Given the description of an element on the screen output the (x, y) to click on. 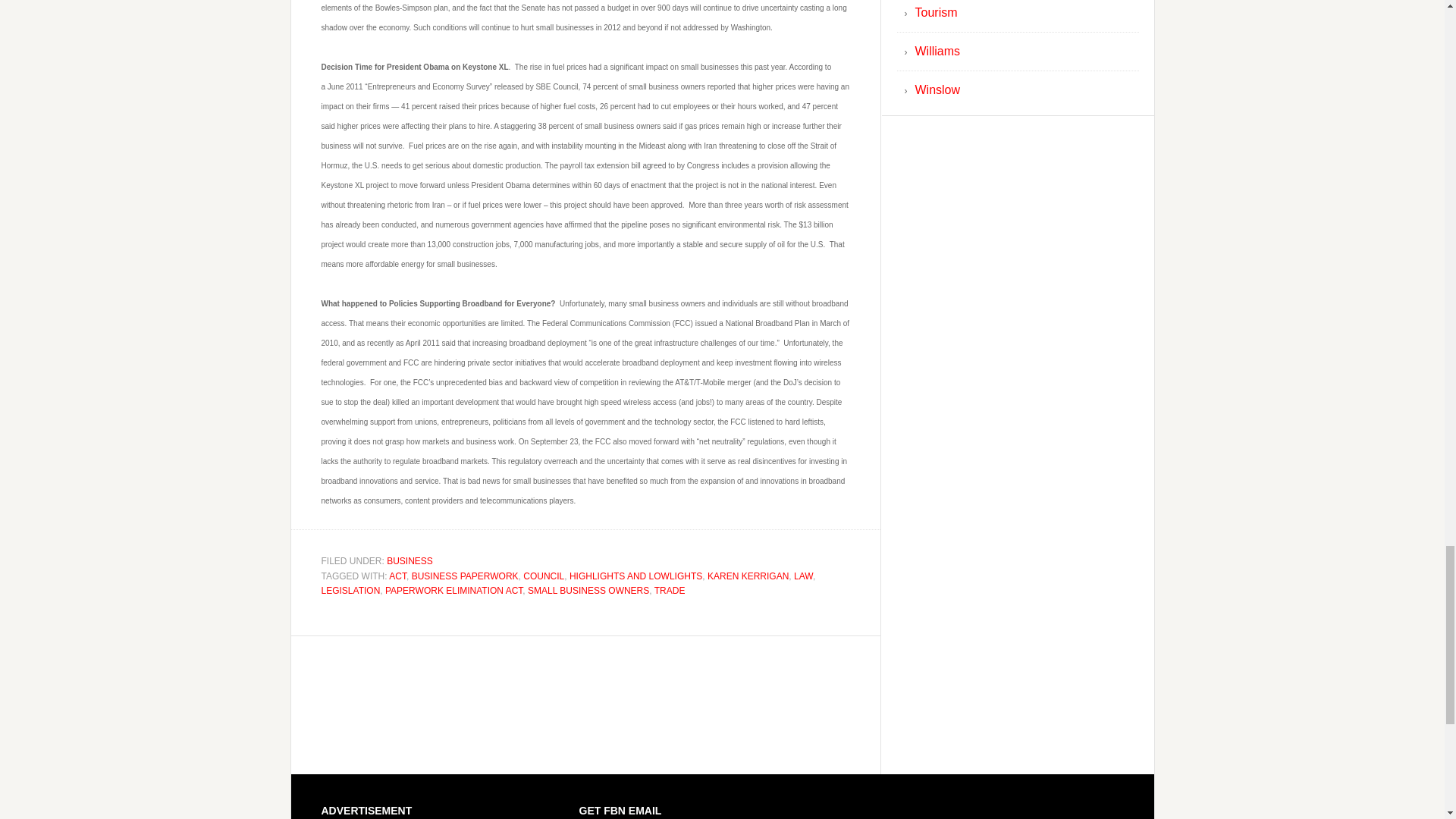
BUSINESS PAPERWORK (465, 575)
HIGHLIGHTS AND LOWLIGHTS (635, 575)
PAPERWORK ELIMINATION ACT (453, 590)
LEGISLATION (350, 590)
BUSINESS (409, 561)
KAREN KERRIGAN (748, 575)
COUNCIL (543, 575)
ACT (397, 575)
SMALL BUSINESS OWNERS (588, 590)
LAW (802, 575)
TRADE (669, 590)
